Given the description of an element on the screen output the (x, y) to click on. 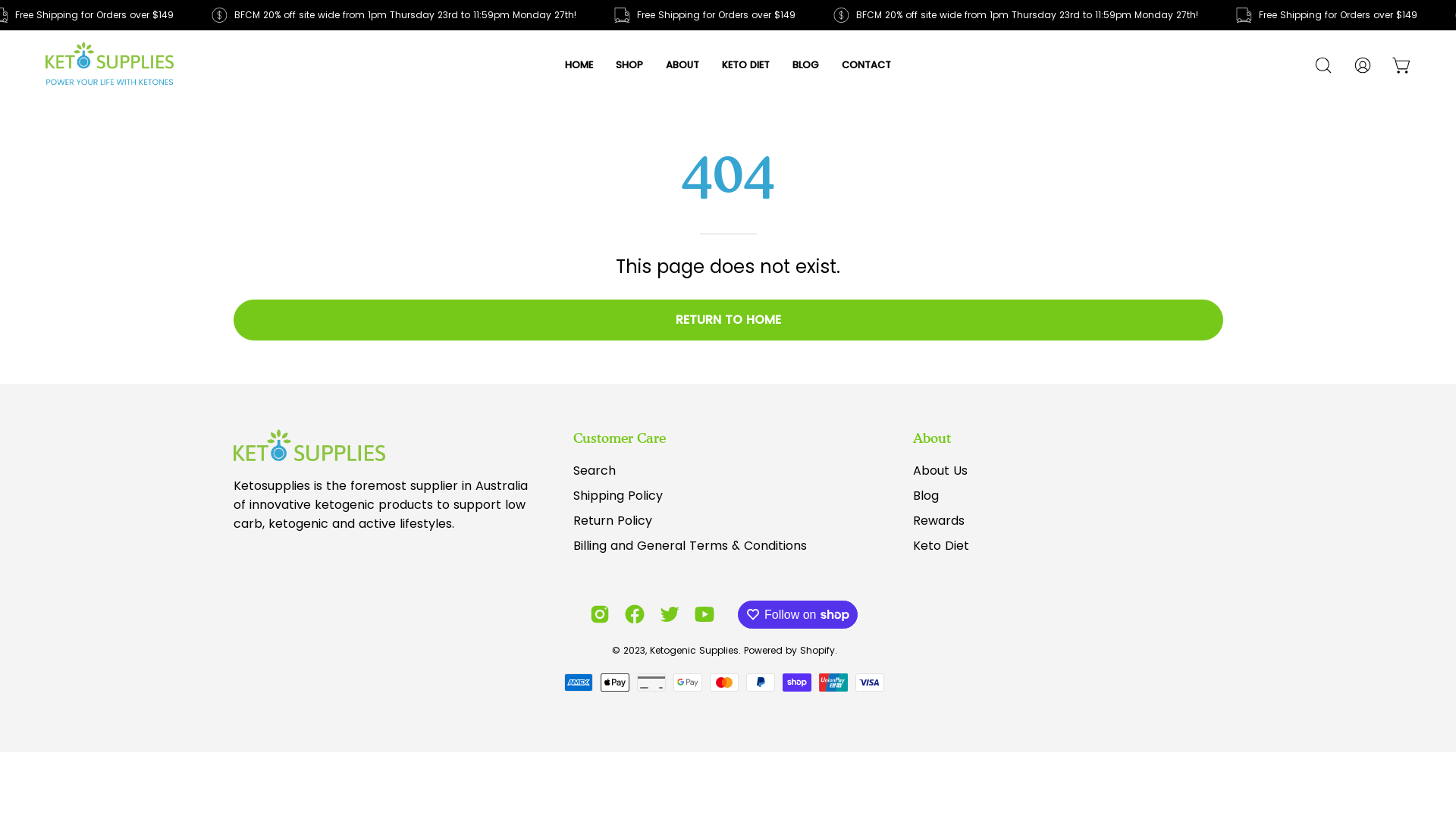
Rewards Element type: text (938, 520)
SHOP Element type: text (629, 65)
KETO DIET Element type: text (745, 65)
ABOUT Element type: text (682, 65)
Search Element type: text (594, 470)
Shopify Element type: text (816, 649)
MY ACCOUNT Element type: text (1362, 65)
Billing and General Terms & Conditions Element type: text (689, 545)
Blog Element type: text (925, 495)
Shipping Policy Element type: text (617, 495)
Keto Diet Element type: text (941, 545)
CONTACT Element type: text (866, 65)
View Ketogenic Supplies on Facebook Element type: hover (634, 613)
About Element type: text (931, 437)
Customer Care Element type: text (619, 437)
RETURN TO HOME Element type: text (728, 318)
View Ketogenic Supplies on Instagram Element type: hover (599, 613)
View Ketogenic Supplies on Twitter Element type: hover (669, 613)
Return Policy Element type: text (612, 520)
View Ketogenic Supplies on Youtube Element type: hover (704, 613)
HOME Element type: text (578, 65)
About Us Element type: text (940, 470)
OPEN CART Element type: text (1402, 65)
Ketogenic Supplies Element type: text (693, 649)
BLOG Element type: text (805, 65)
